Given the description of an element on the screen output the (x, y) to click on. 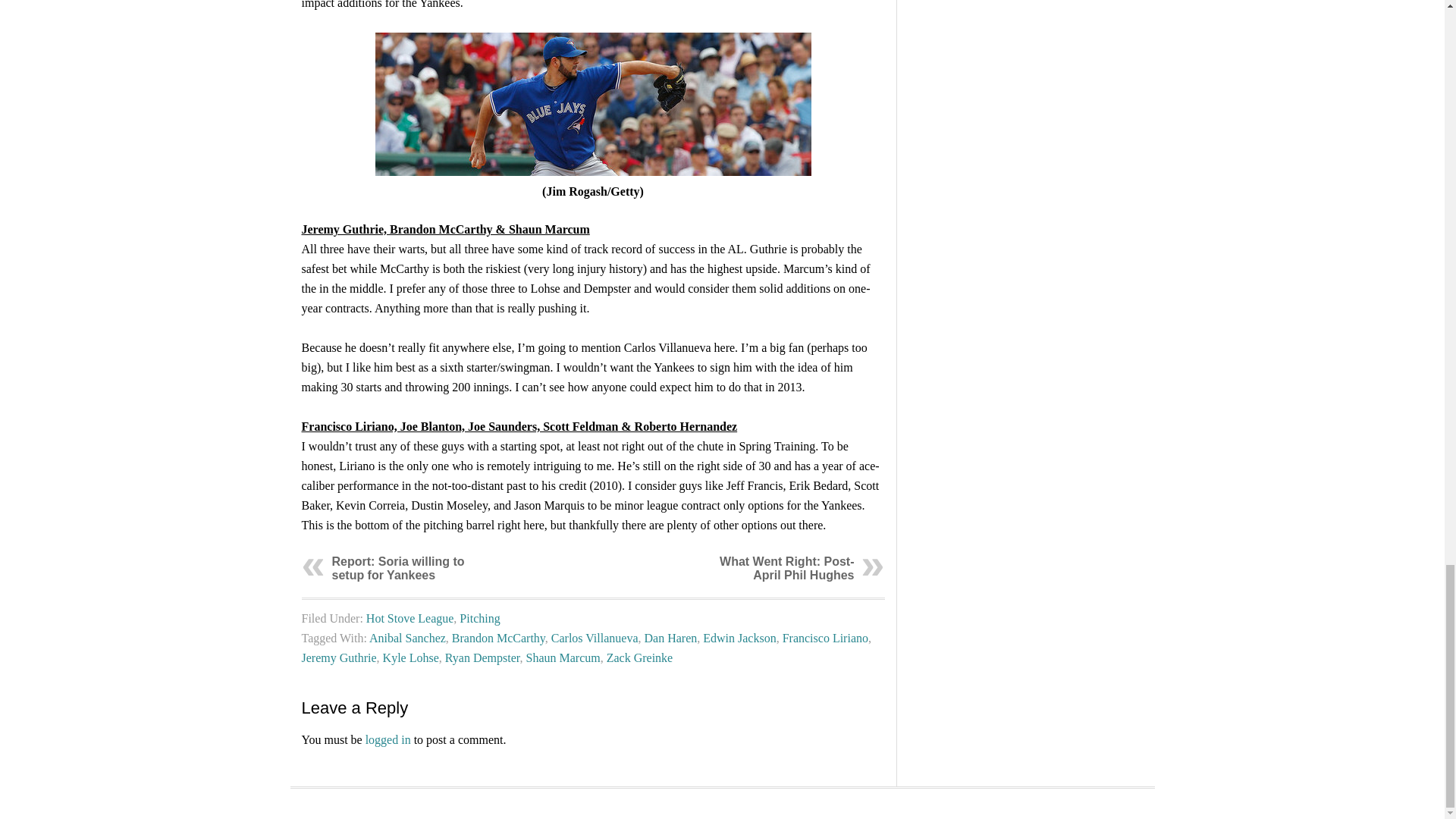
Hot Stove League (410, 617)
Anibal Sanchez (407, 637)
Carlos Villanueva (595, 637)
Carlos Villanueva (592, 104)
Brandon McCarthy (497, 637)
What Went Right: Post-April Phil Hughes (786, 568)
Report: Soria willing to setup for Yankees (397, 568)
Pitching (479, 617)
